Given the description of an element on the screen output the (x, y) to click on. 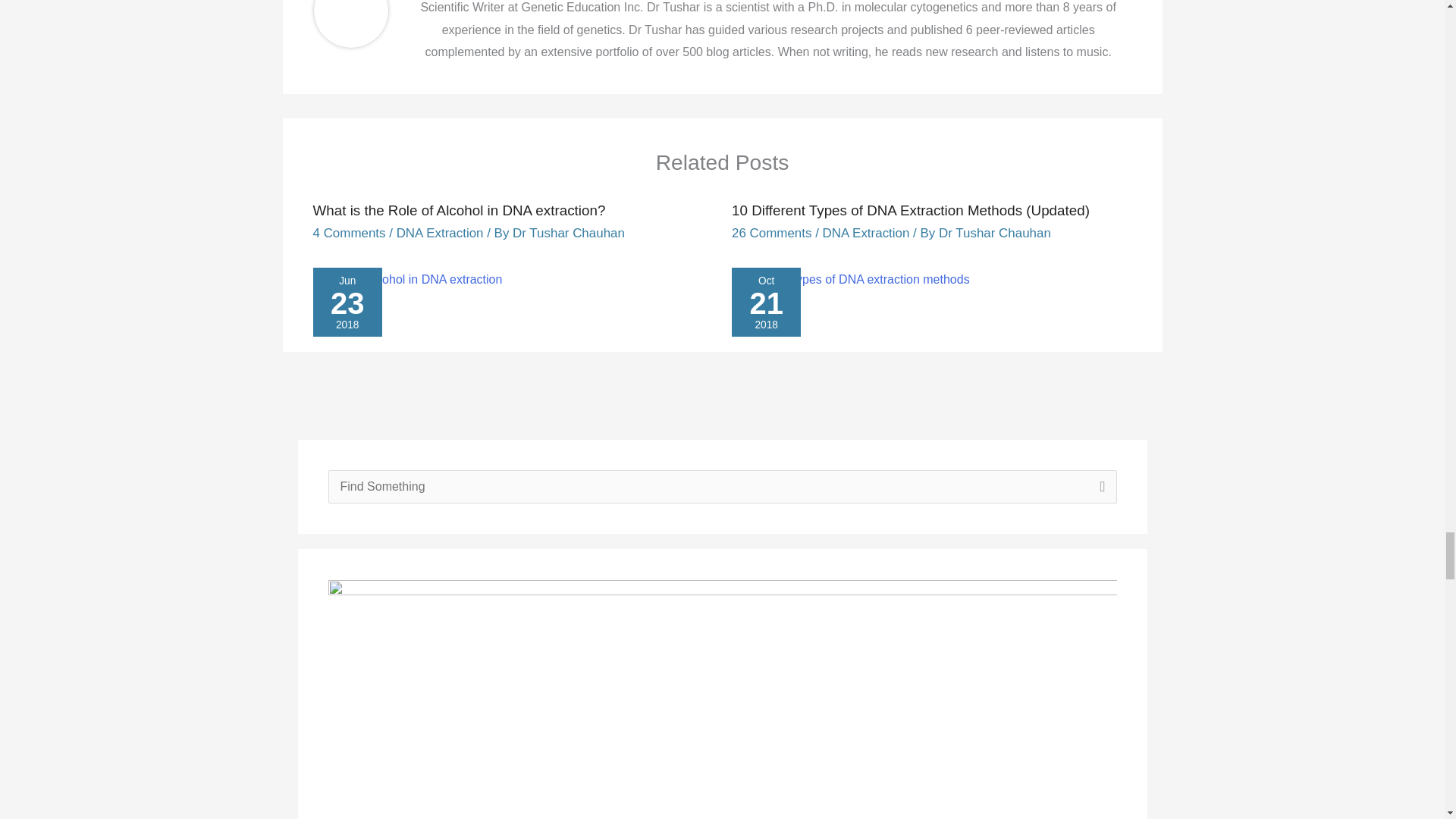
View all posts by Dr Tushar Chauhan (995, 233)
View all posts by Dr Tushar Chauhan (568, 233)
